Given the description of an element on the screen output the (x, y) to click on. 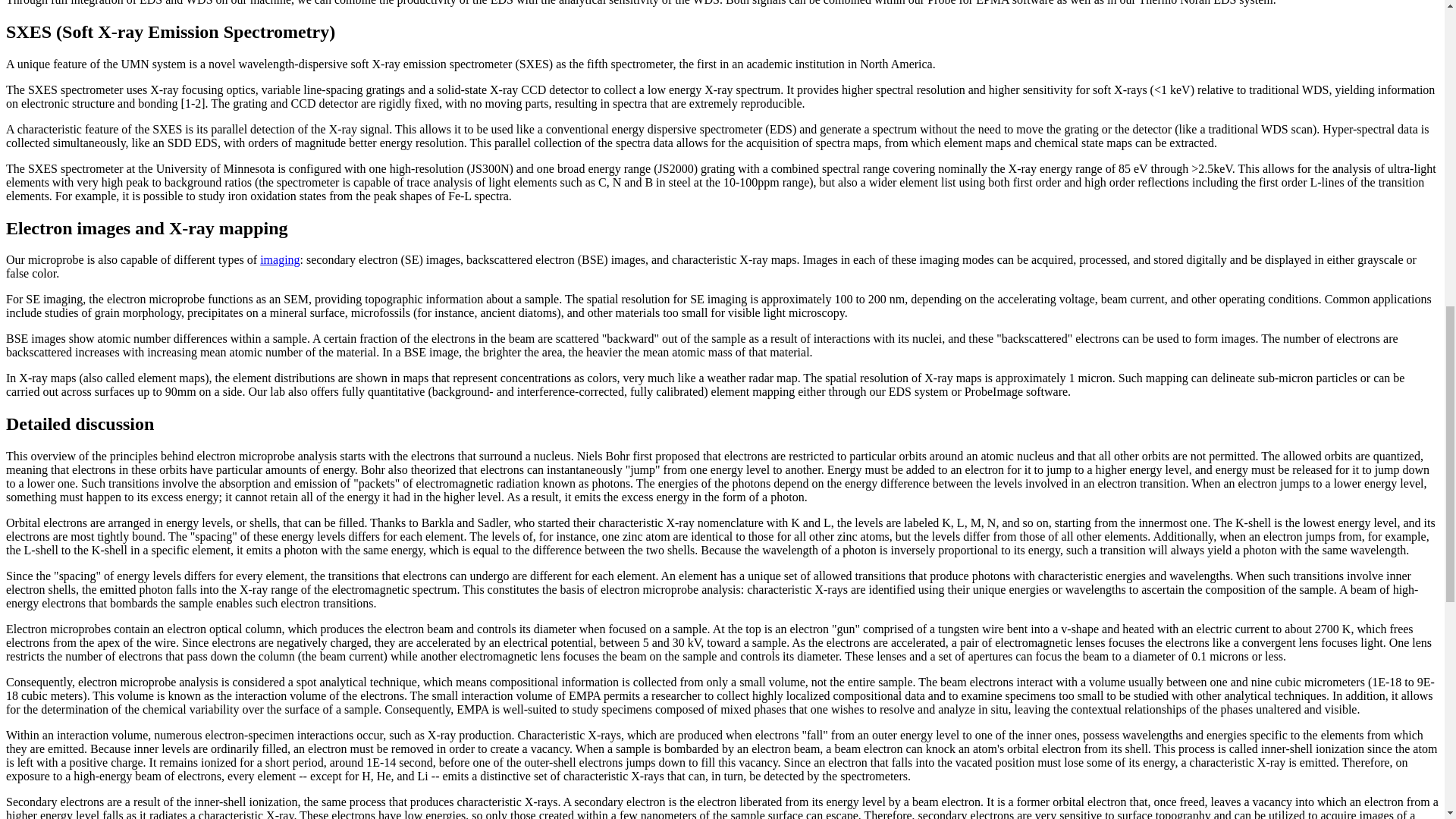
imaging (279, 259)
